Given the description of an element on the screen output the (x, y) to click on. 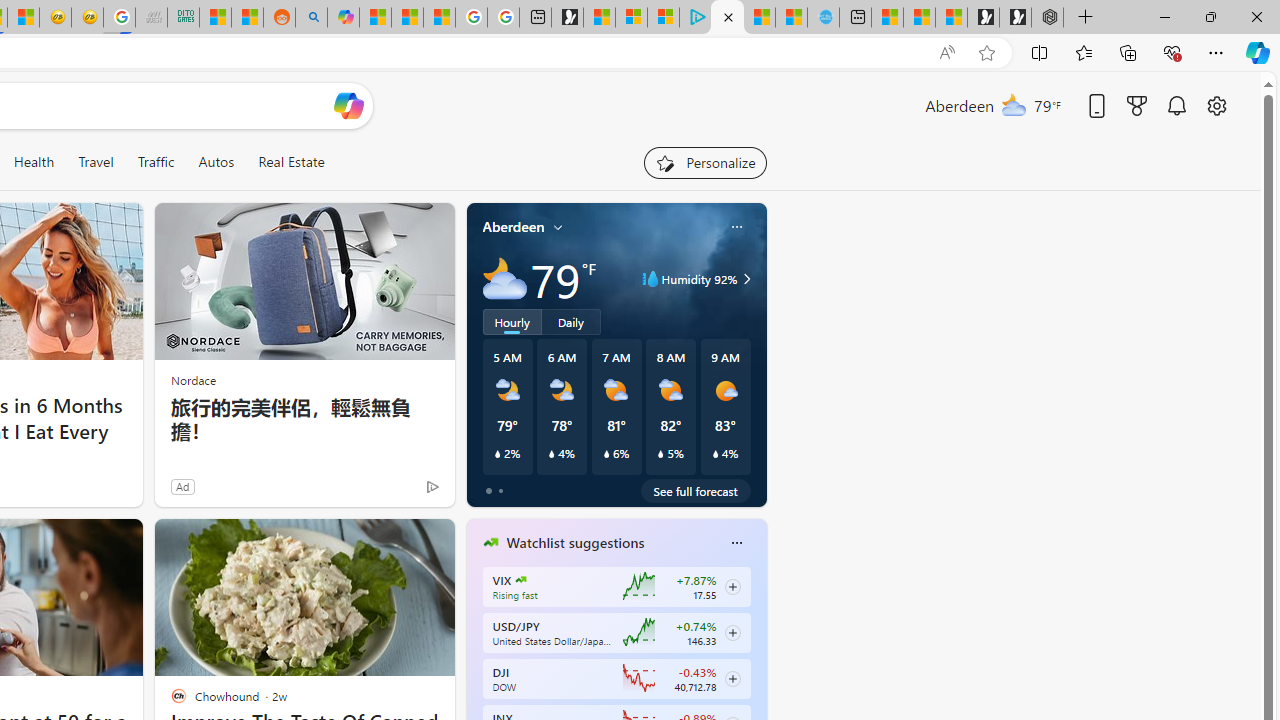
next (756, 670)
Class: weather-arrow-glyph (746, 278)
